Given the description of an element on the screen output the (x, y) to click on. 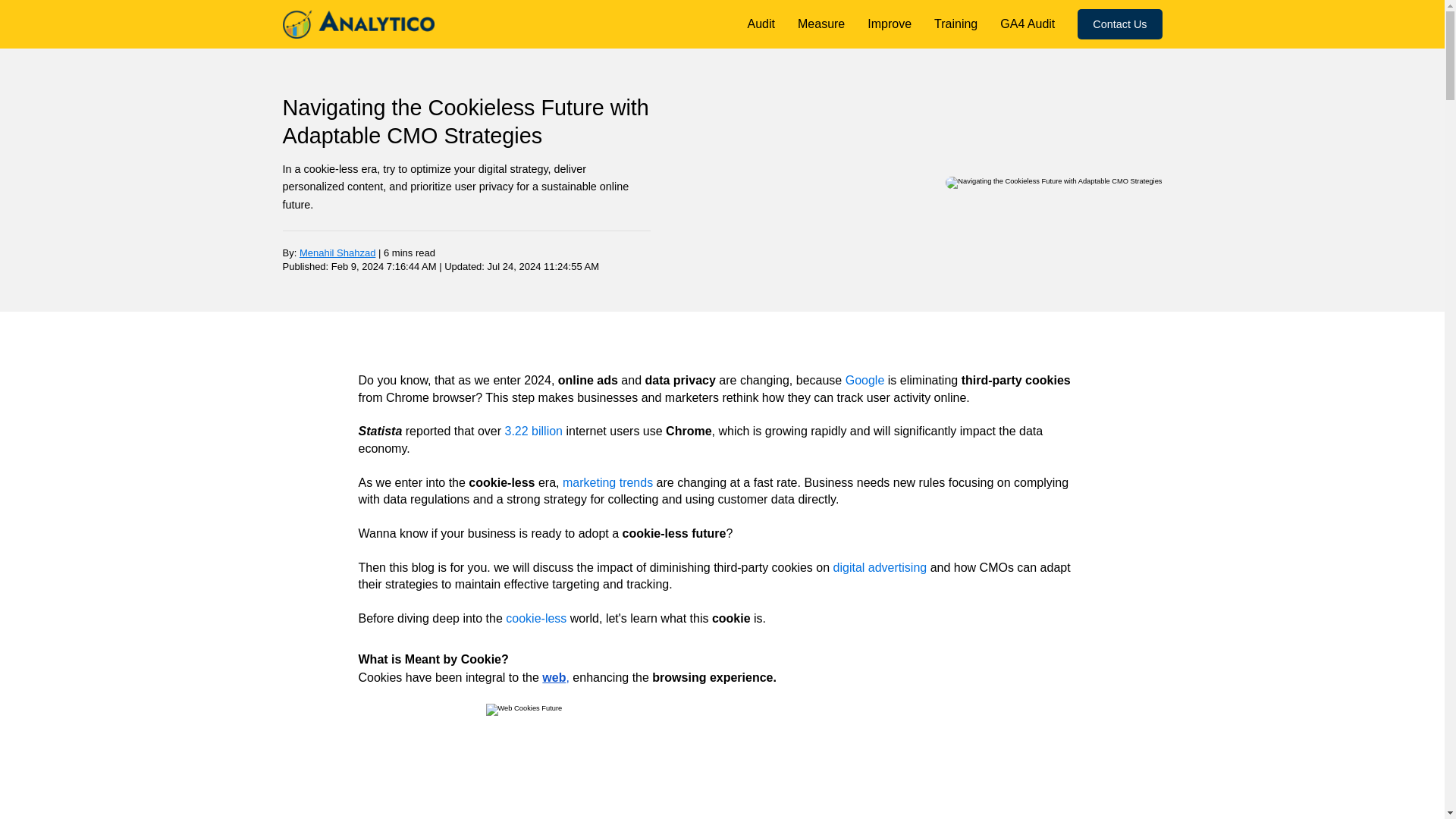
Measure (820, 23)
Contact Us (1119, 24)
cookie-less (536, 617)
digital advertising (879, 567)
marketing trends (607, 481)
Improve (889, 23)
GA4 Audit (1027, 23)
web, (553, 676)
3.22 billion (534, 431)
Audit (761, 23)
Training (955, 23)
Analytics Audit (761, 23)
Google (866, 379)
Menahil Shahzad (337, 252)
